Given the description of an element on the screen output the (x, y) to click on. 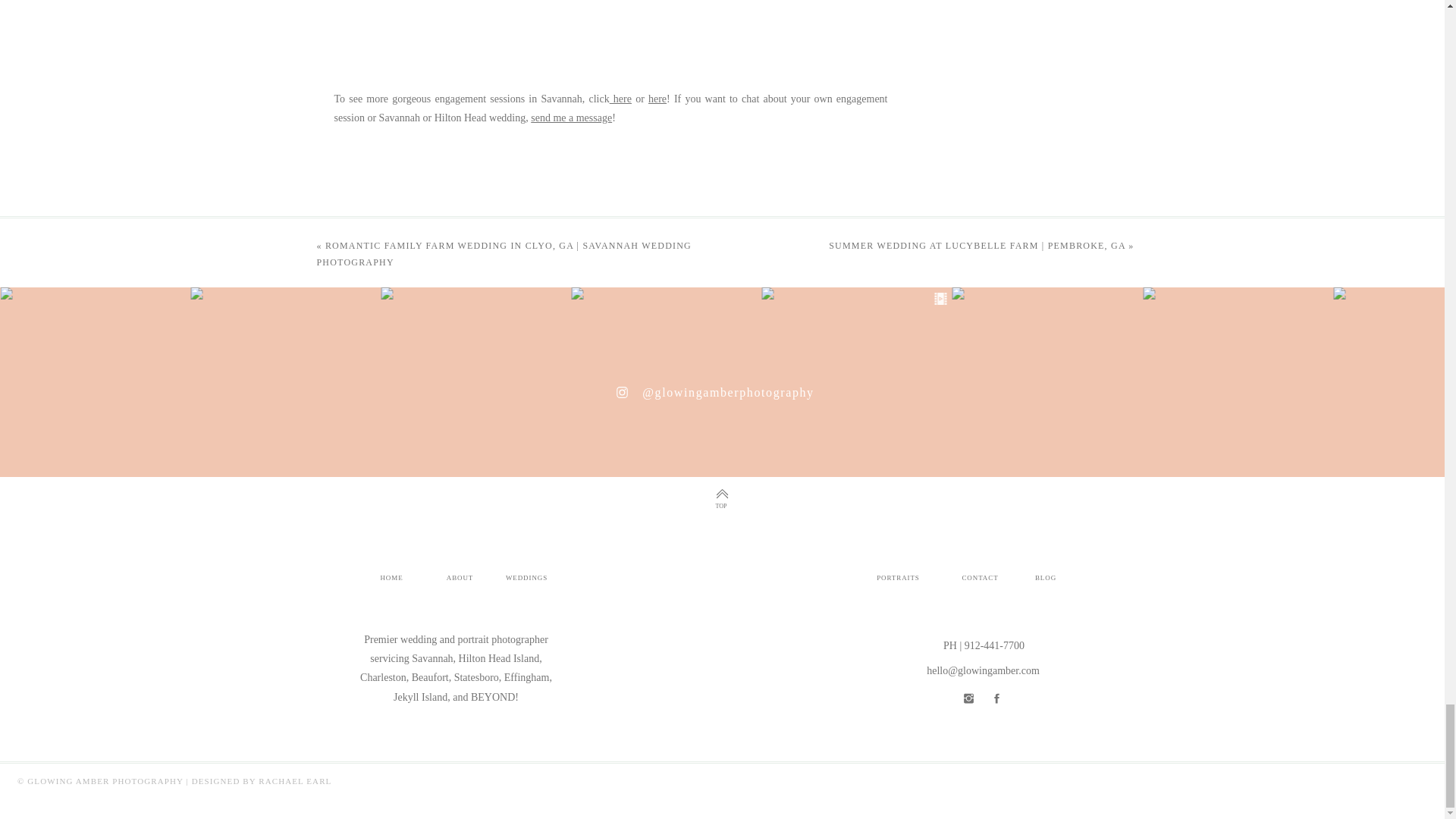
BLOG (1045, 579)
TOP (721, 506)
PORTRAITS (898, 579)
here (656, 98)
CONTACT (979, 579)
here (620, 98)
HOME (391, 579)
send me a message (571, 117)
ABOUT (459, 579)
WEDDINGS (526, 579)
